Given the description of an element on the screen output the (x, y) to click on. 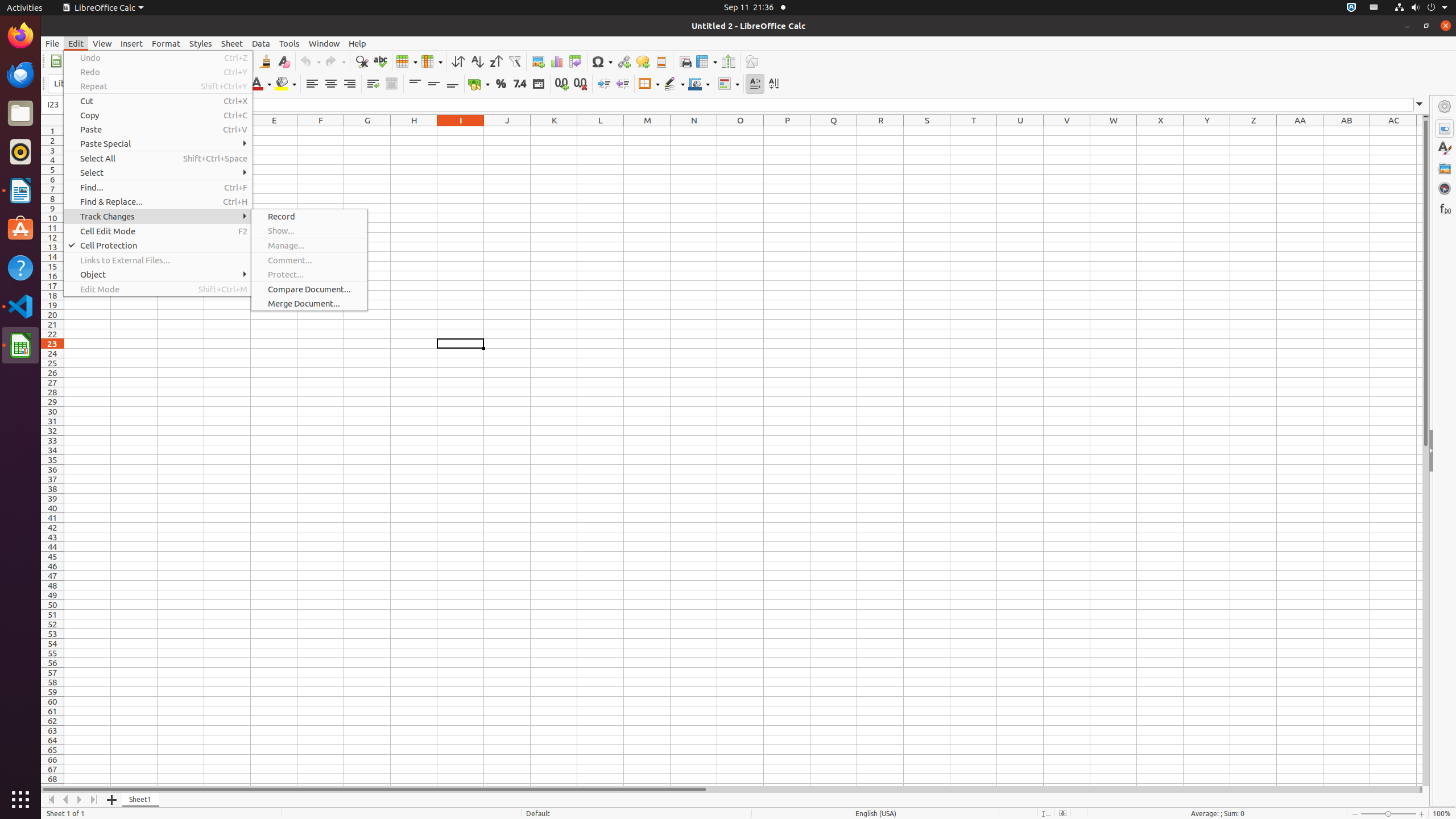
Vertical scroll bar Element type: scroll-bar (1425, 451)
Find & Replace Element type: toggle-button (361, 61)
